Given the description of an element on the screen output the (x, y) to click on. 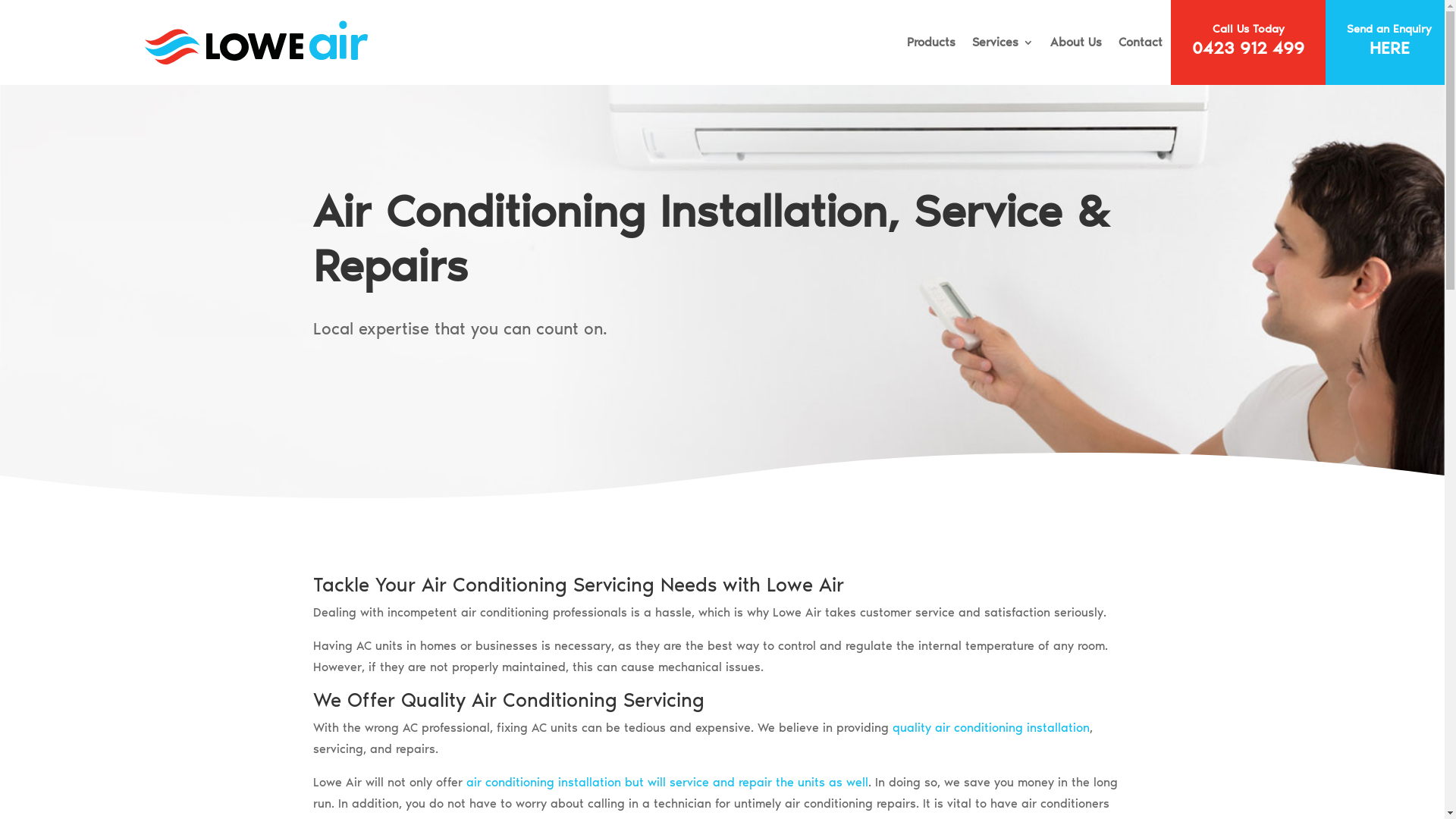
quality air conditioning installation Element type: text (989, 727)
About Us Element type: text (1075, 42)
Contact Element type: text (1140, 42)
Call Us Today
0423 912 499 Element type: text (1248, 42)
Send an Enquiry
HERE Element type: text (1388, 42)
Services Element type: text (1002, 42)
Products Element type: text (930, 42)
